Given the description of an element on the screen output the (x, y) to click on. 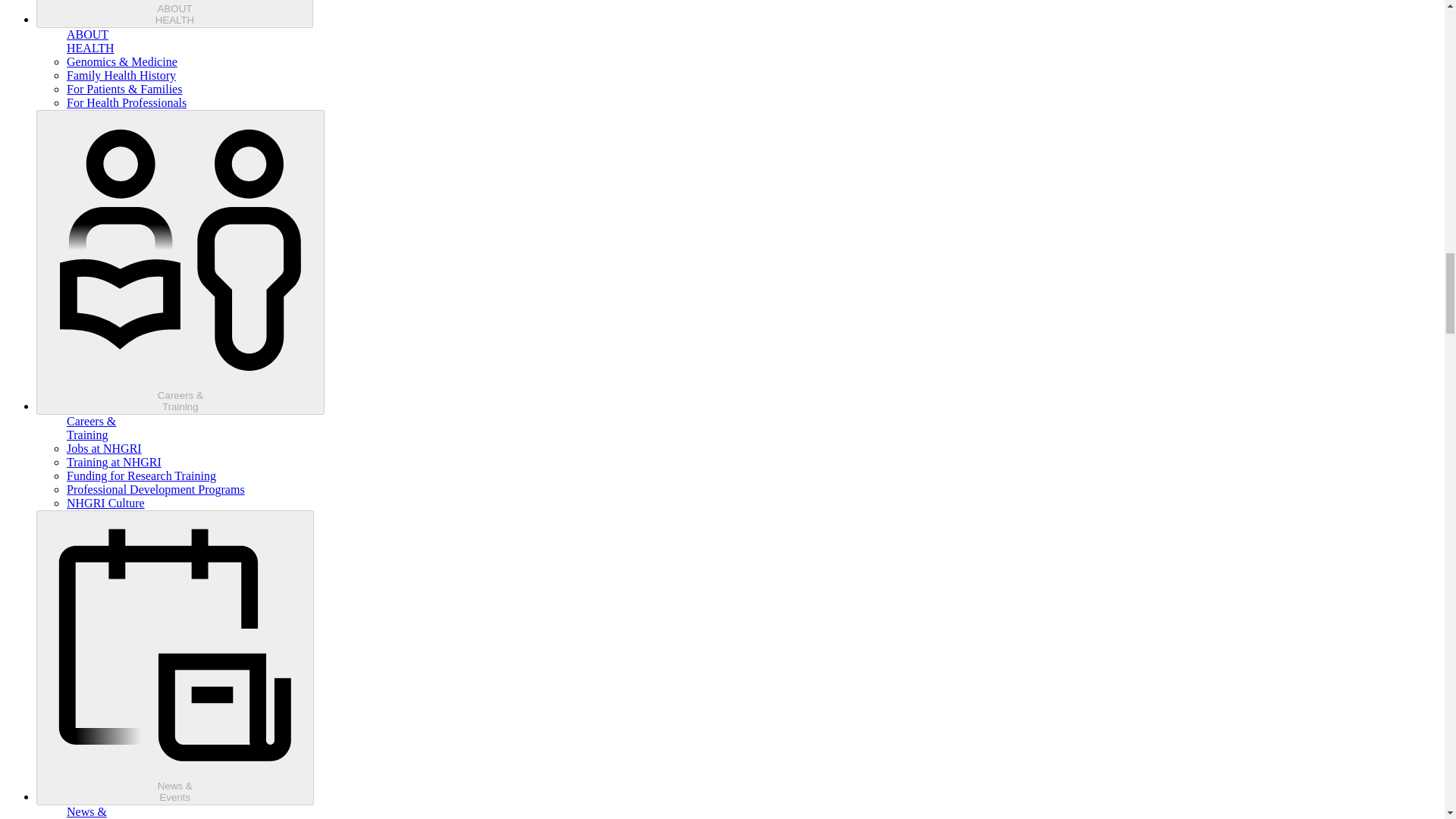
Family Health History (121, 74)
Jobs at NHGRI (174, 13)
For Health Professionals (103, 448)
